Given the description of an element on the screen output the (x, y) to click on. 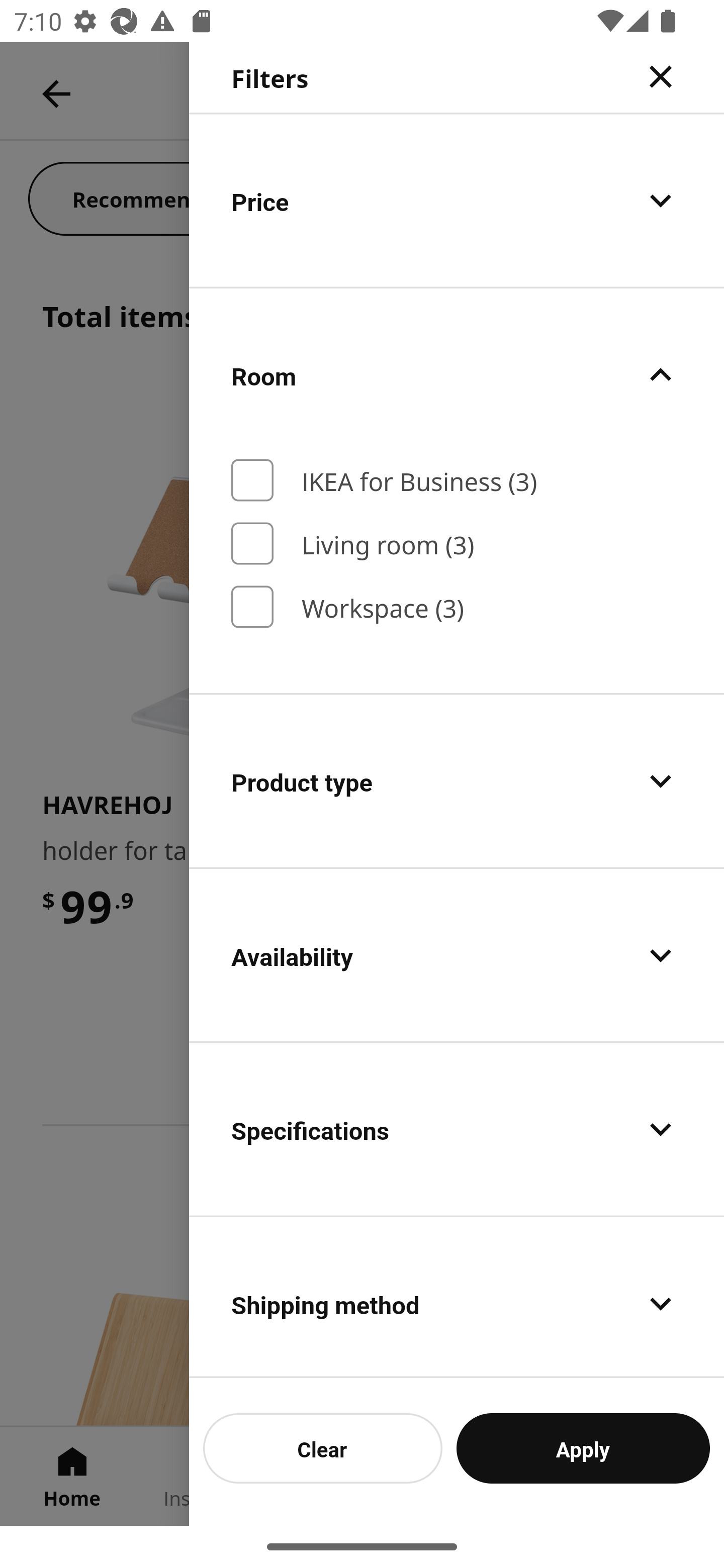
Price (456, 200)
Room (456, 374)
IKEA for Business (3) (456, 480)
Living room (3) (456, 543)
Workspace (3) (456, 607)
Product type (456, 780)
Availability (456, 954)
Specifications (456, 1128)
Shipping method (456, 1297)
Clear (322, 1447)
Apply (583, 1447)
